Given the description of an element on the screen output the (x, y) to click on. 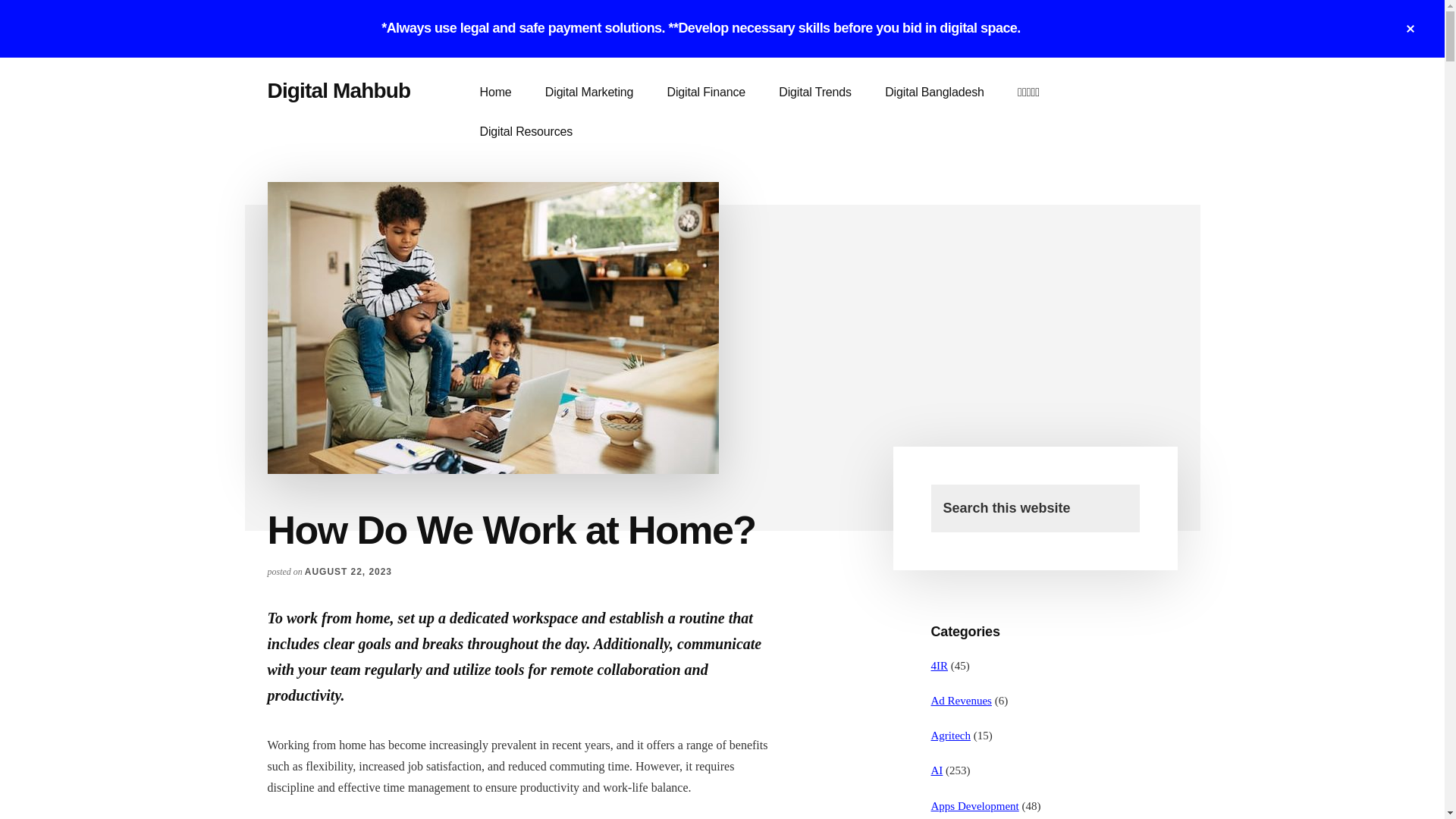
Home (494, 92)
Digital Marketing (588, 92)
Digital Finance (706, 92)
Digital Mahbub (338, 90)
Digital Trends (814, 92)
